Given the description of an element on the screen output the (x, y) to click on. 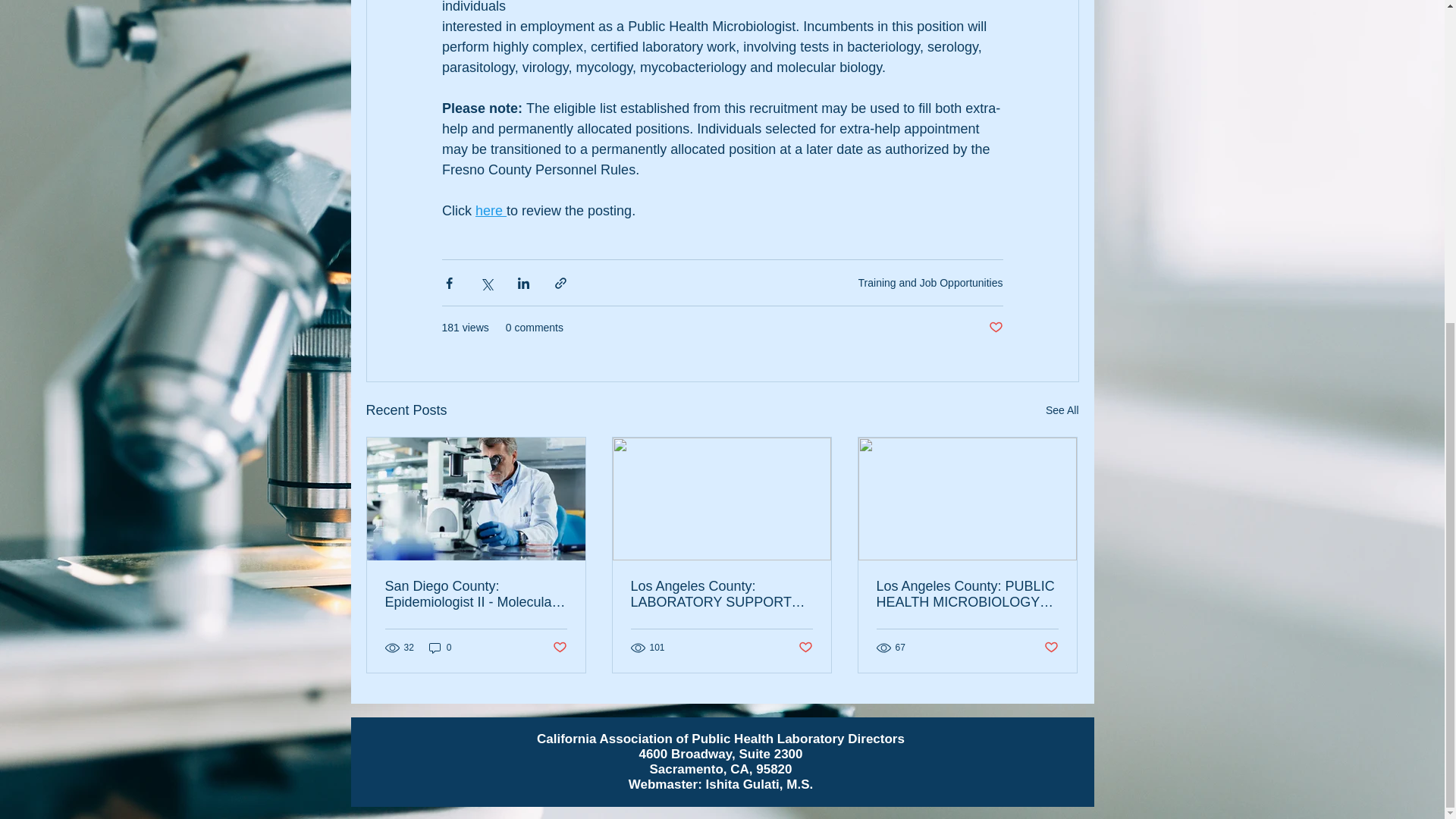
Post not marked as liked (558, 647)
See All (1061, 410)
Training and Job Opportunities (931, 282)
here  (489, 210)
0 (440, 646)
Post not marked as liked (995, 327)
San Diego County: Epidemiologist II - Molecular Scientist (476, 594)
